Given the description of an element on the screen output the (x, y) to click on. 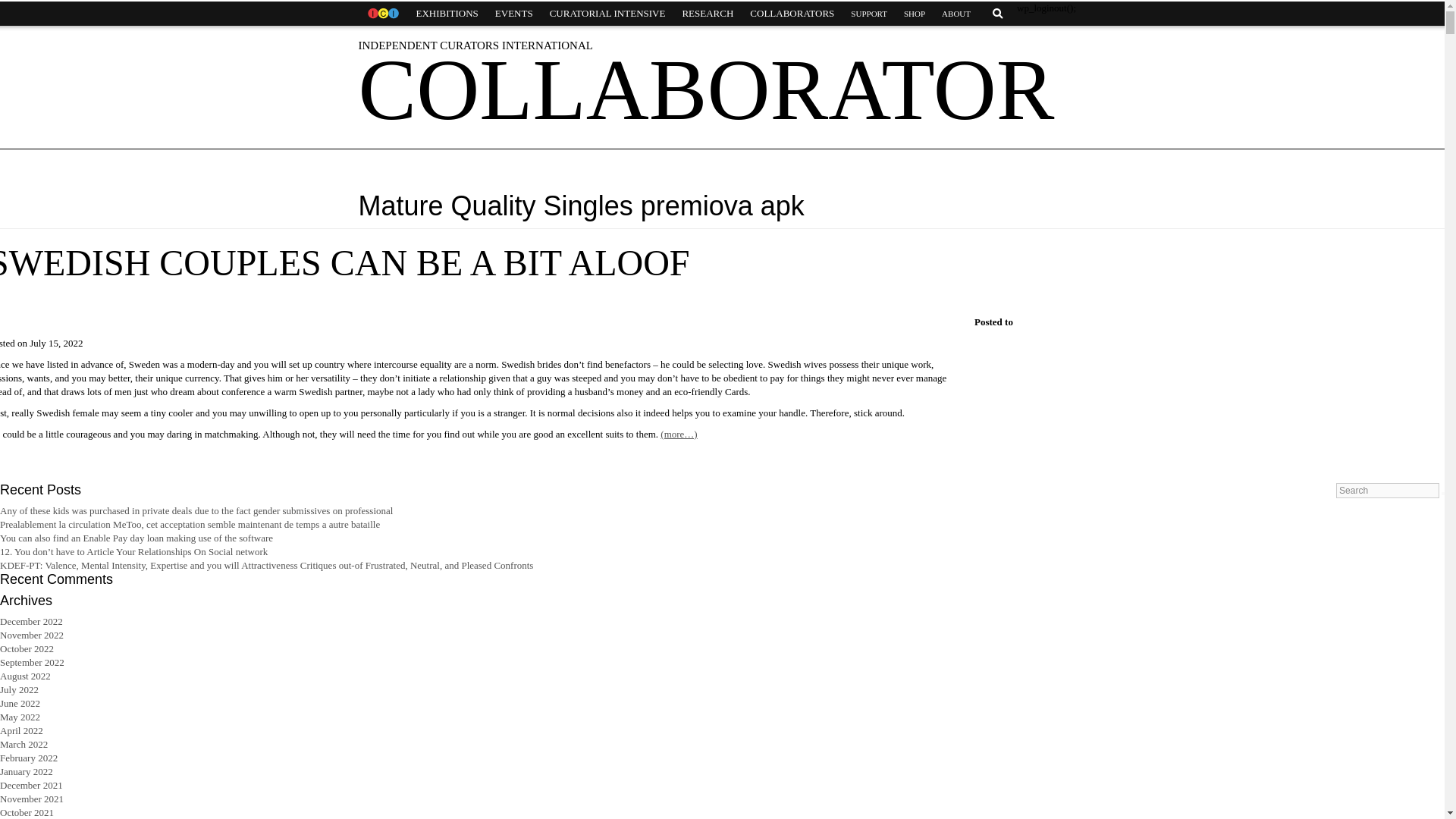
COLLABORATORS (792, 13)
EVENTS (513, 13)
HOME (382, 13)
RESEARCH (706, 13)
CURATORIAL INTENSIVE (607, 13)
EXHIBITIONS (446, 13)
